Given the description of an element on the screen output the (x, y) to click on. 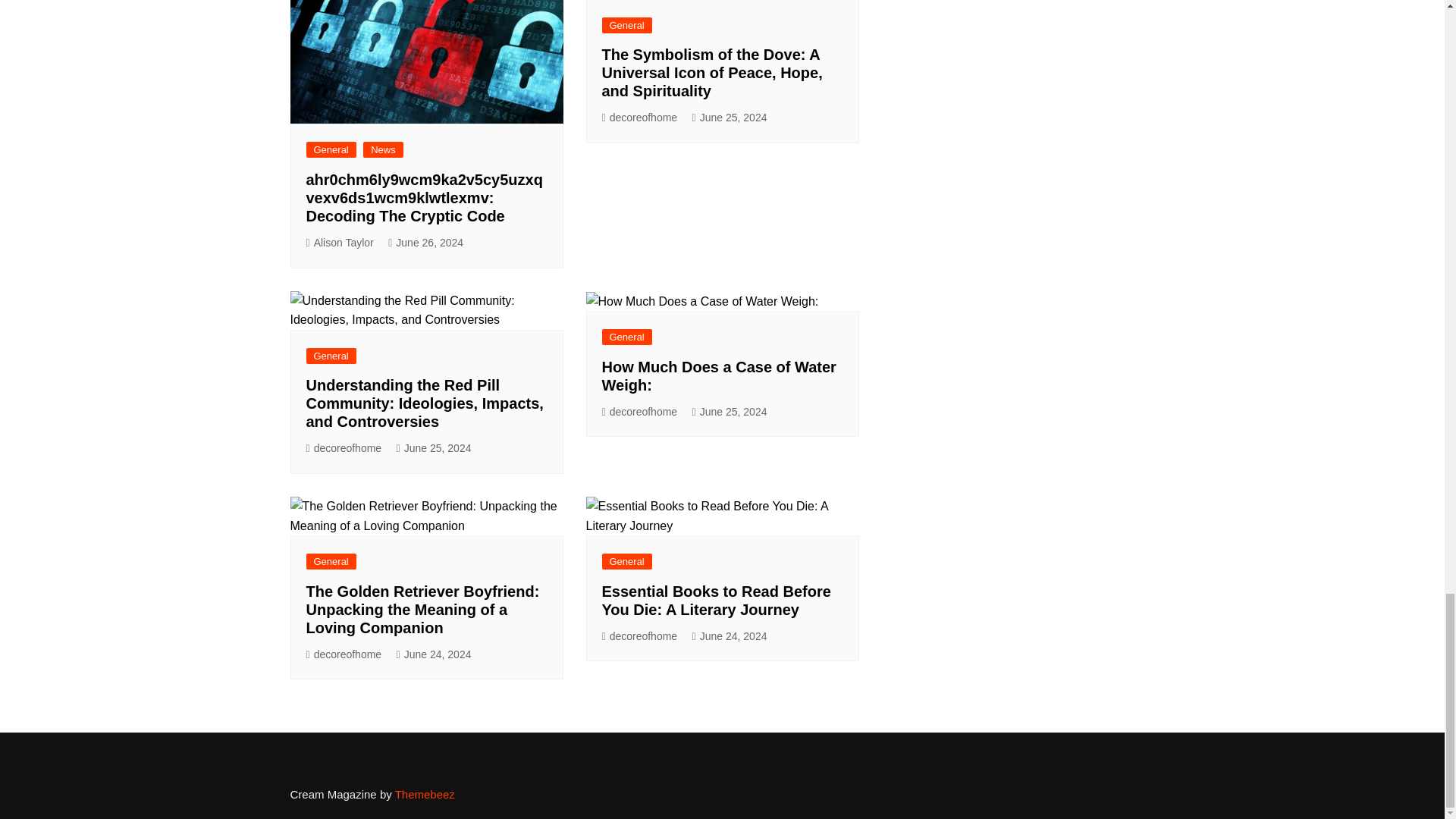
General (627, 25)
General (330, 149)
decoreofhome (640, 117)
News (382, 149)
June 26, 2024 (425, 242)
June 25, 2024 (730, 117)
Alison Taylor (339, 242)
